Given the description of an element on the screen output the (x, y) to click on. 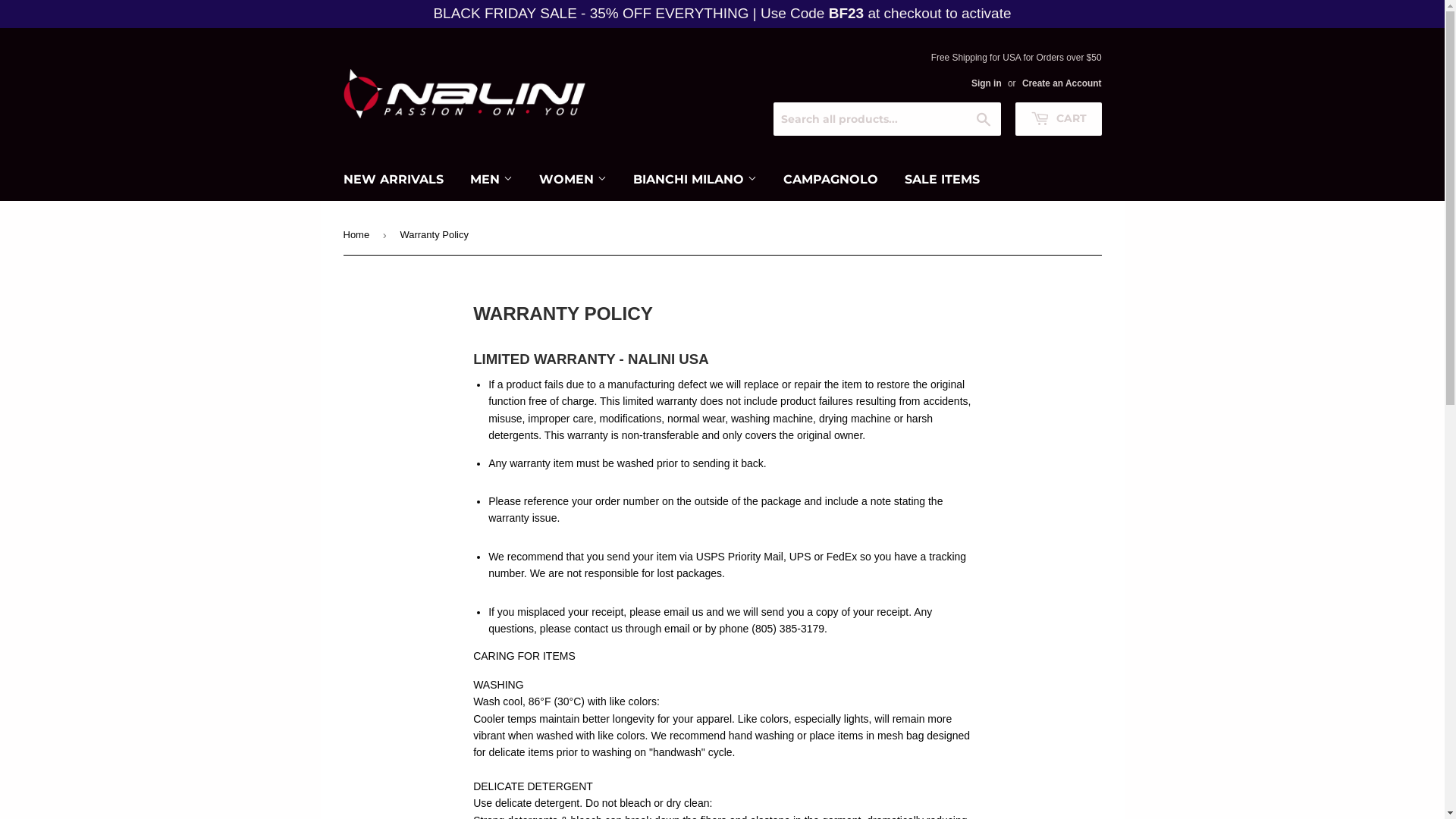
Home Element type: text (358, 235)
CAMPAGNOLO Element type: text (830, 179)
email Element type: text (678, 628)
SALE ITEMS Element type: text (942, 179)
Sign in Element type: text (986, 83)
Create an Account Element type: text (1061, 83)
MEN Element type: text (490, 179)
CART Element type: text (1057, 118)
BIANCHI MILANO Element type: text (694, 179)
Search Element type: text (983, 119)
NEW ARRIVALS Element type: text (393, 179)
WOMEN Element type: text (572, 179)
